Given the description of an element on the screen output the (x, y) to click on. 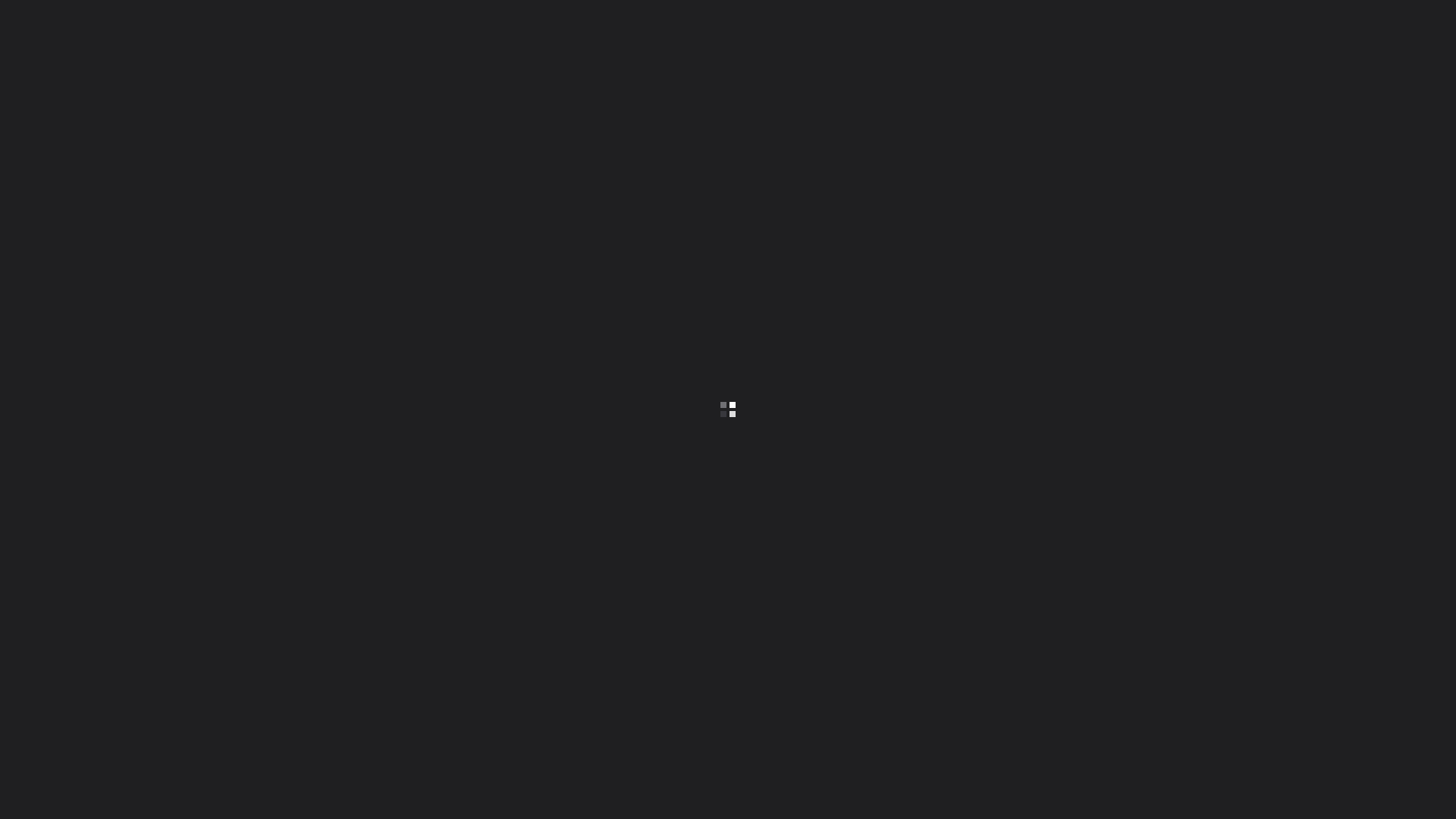
20170629 - THURSDAY Element type: text (297, 192)
Share Gallery Element type: hover (1250, 228)
2017 - JNJ TEEN CONFERENCE Element type: text (149, 192)
Slideshow Element type: hover (1287, 228)
BUY PHOTOS Element type: text (1371, 228)
Contact Us Element type: text (1389, 45)
